Given the description of an element on the screen output the (x, y) to click on. 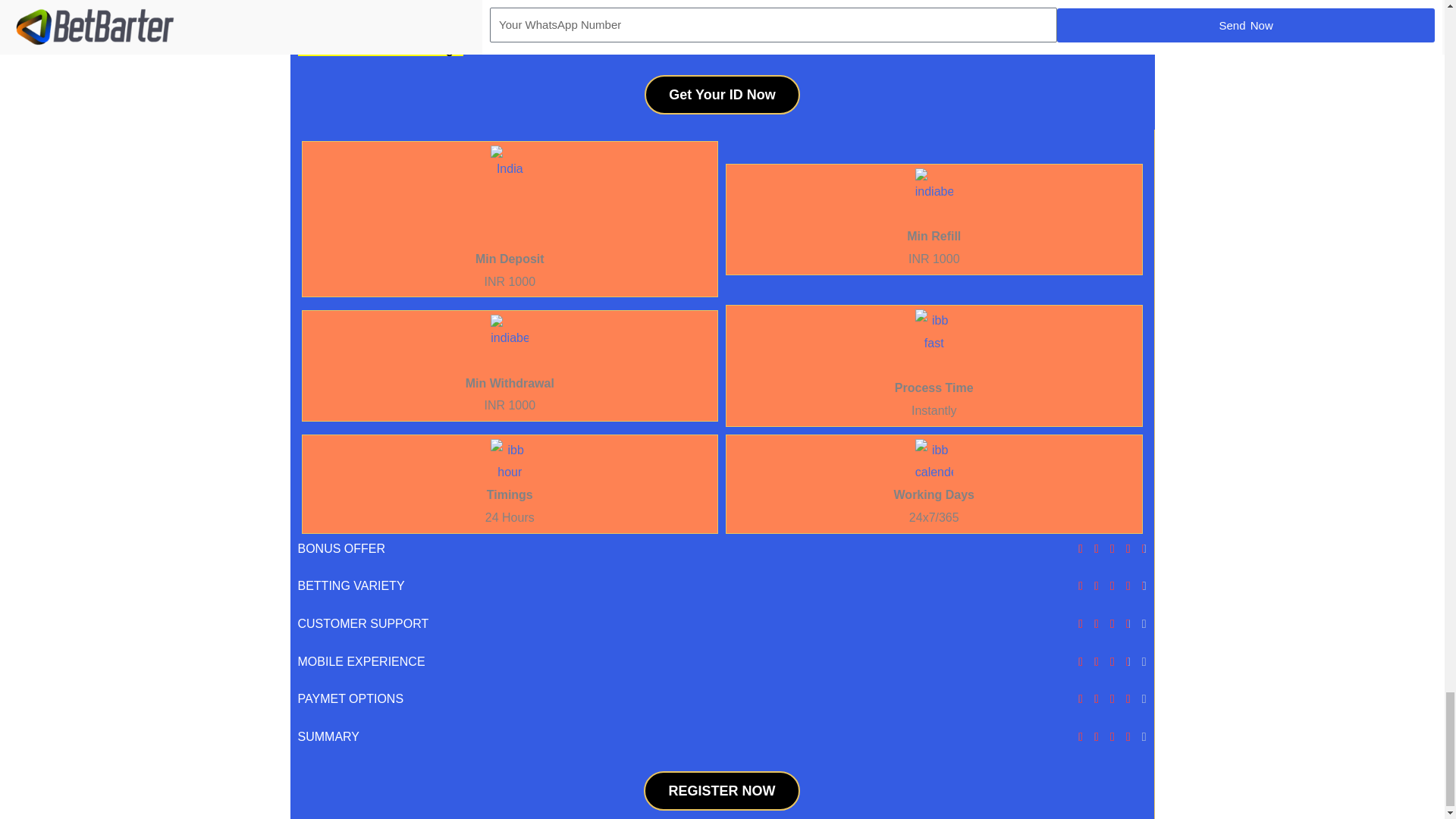
Timings (509, 494)
Min Refill (933, 236)
Min Withdrawal (509, 382)
Working Days (933, 494)
Process Time (934, 387)
Min Deposit (510, 258)
Get Your ID Now (722, 94)
